Given the description of an element on the screen output the (x, y) to click on. 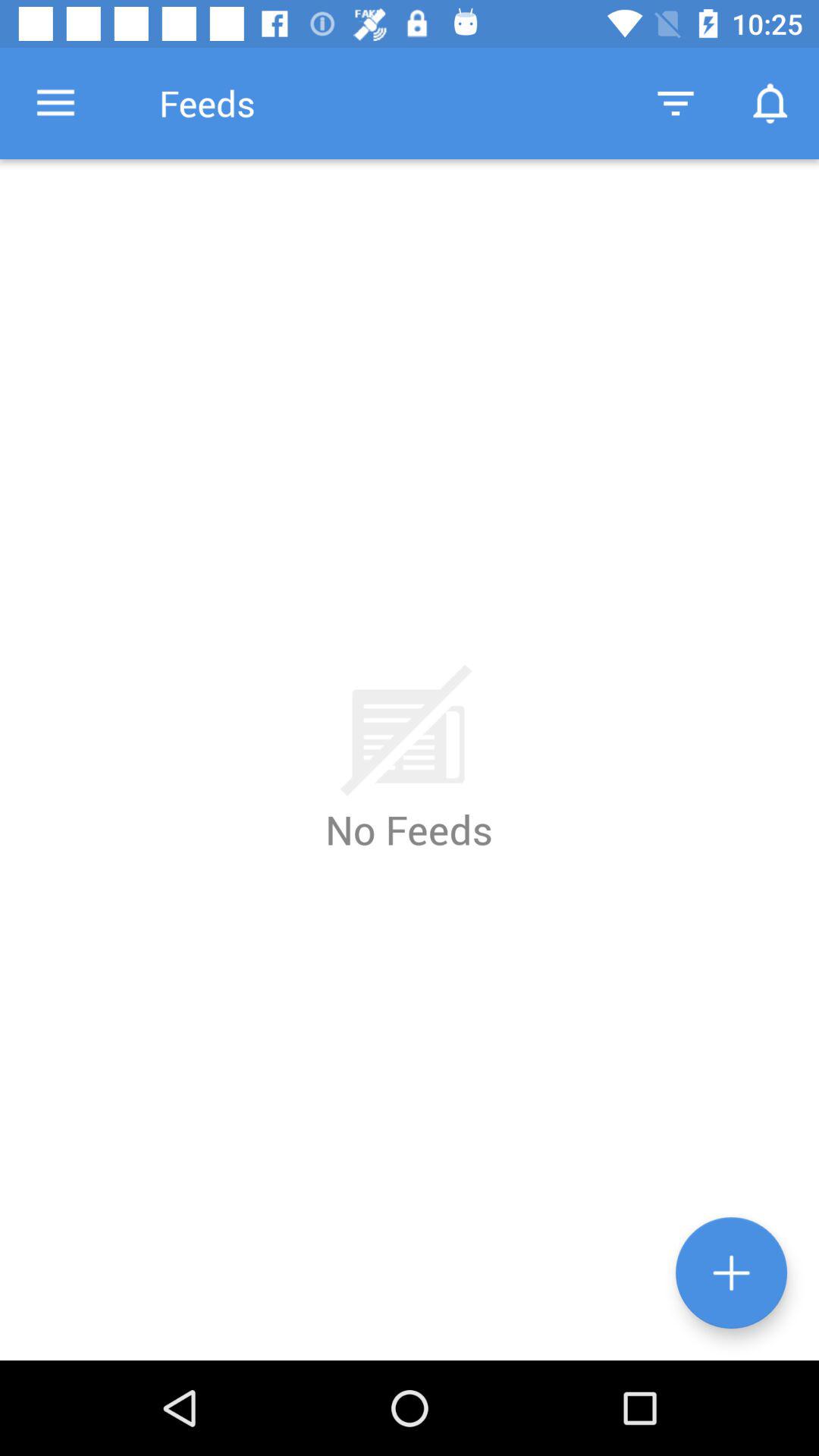
the more options button (731, 1272)
